Given the description of an element on the screen output the (x, y) to click on. 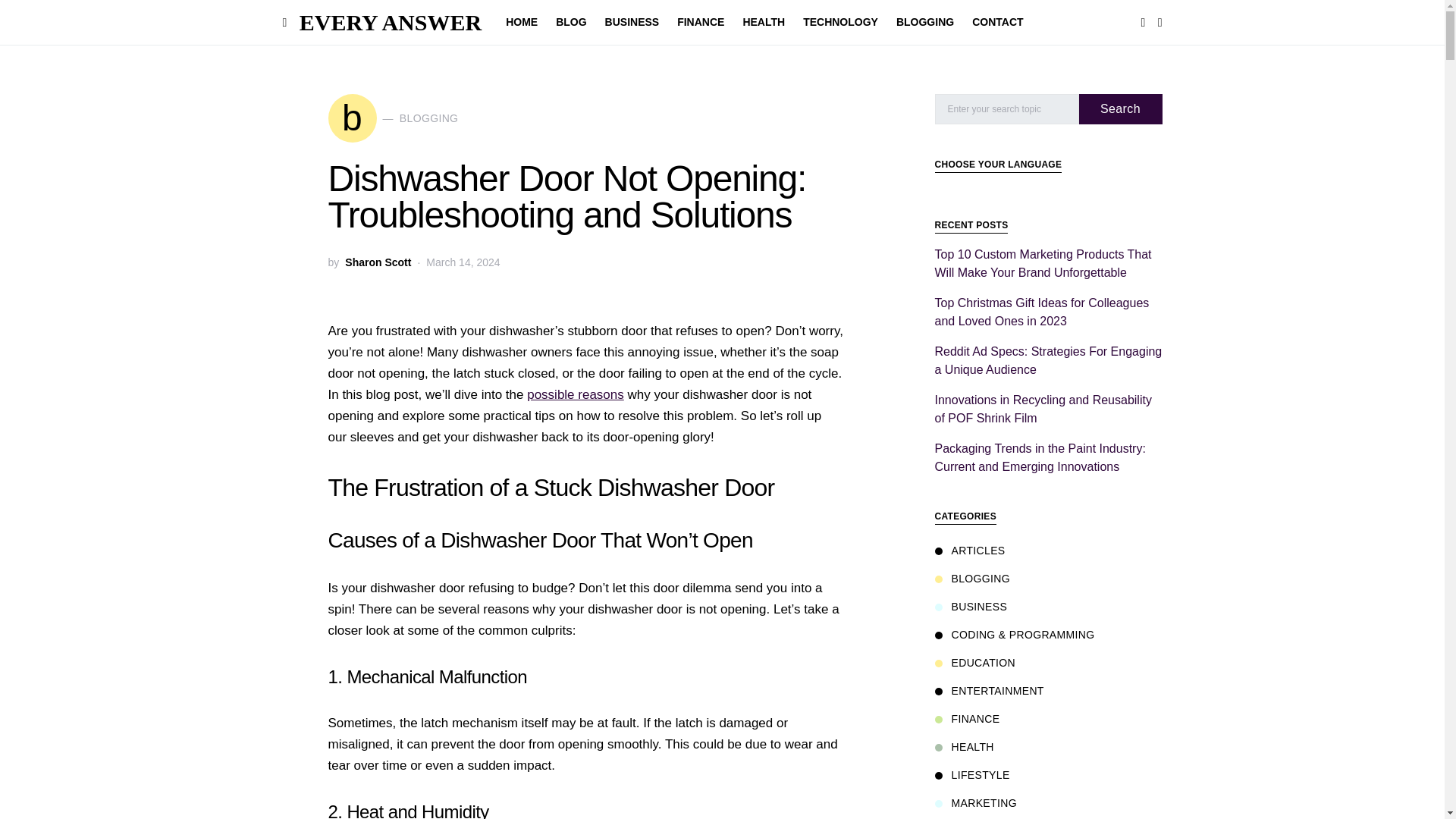
BLOGGING (924, 22)
possible reasons (392, 118)
TECHNOLOGY (575, 394)
FINANCE (839, 22)
BLOG (700, 22)
BUSINESS (571, 22)
Sharon Scott (631, 22)
CONTACT (377, 261)
EVERY ANSWER (992, 22)
View all posts by Sharon Scott (390, 22)
HEALTH (377, 261)
HOME (763, 22)
